Given the description of an element on the screen output the (x, y) to click on. 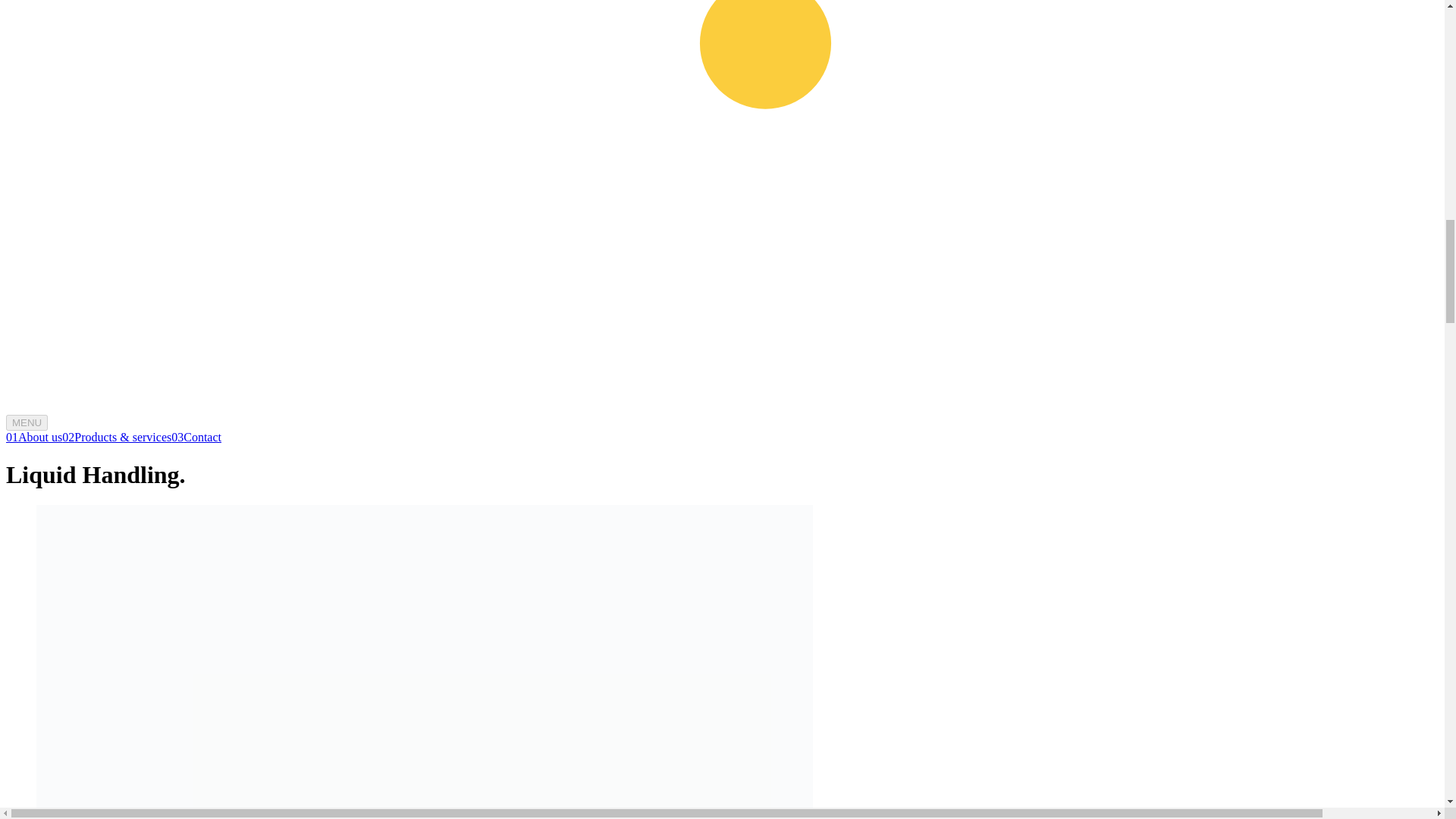
03Contact (196, 436)
MENU (26, 422)
01About us (33, 436)
